Given the description of an element on the screen output the (x, y) to click on. 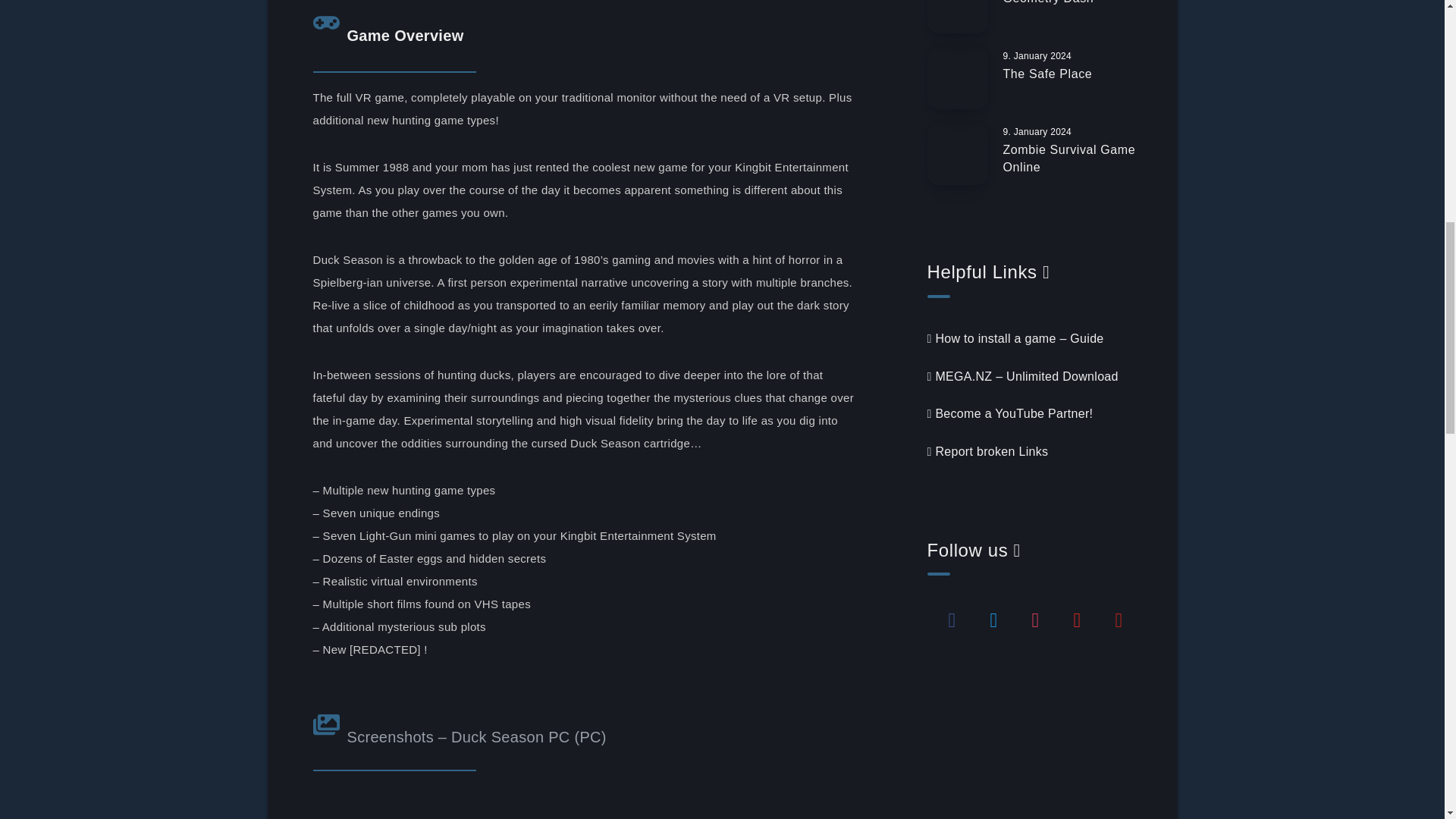
Zombie Survival Game Online (1069, 160)
Geometry Dash (1048, 4)
The Safe Place (1047, 75)
